Given the description of an element on the screen output the (x, y) to click on. 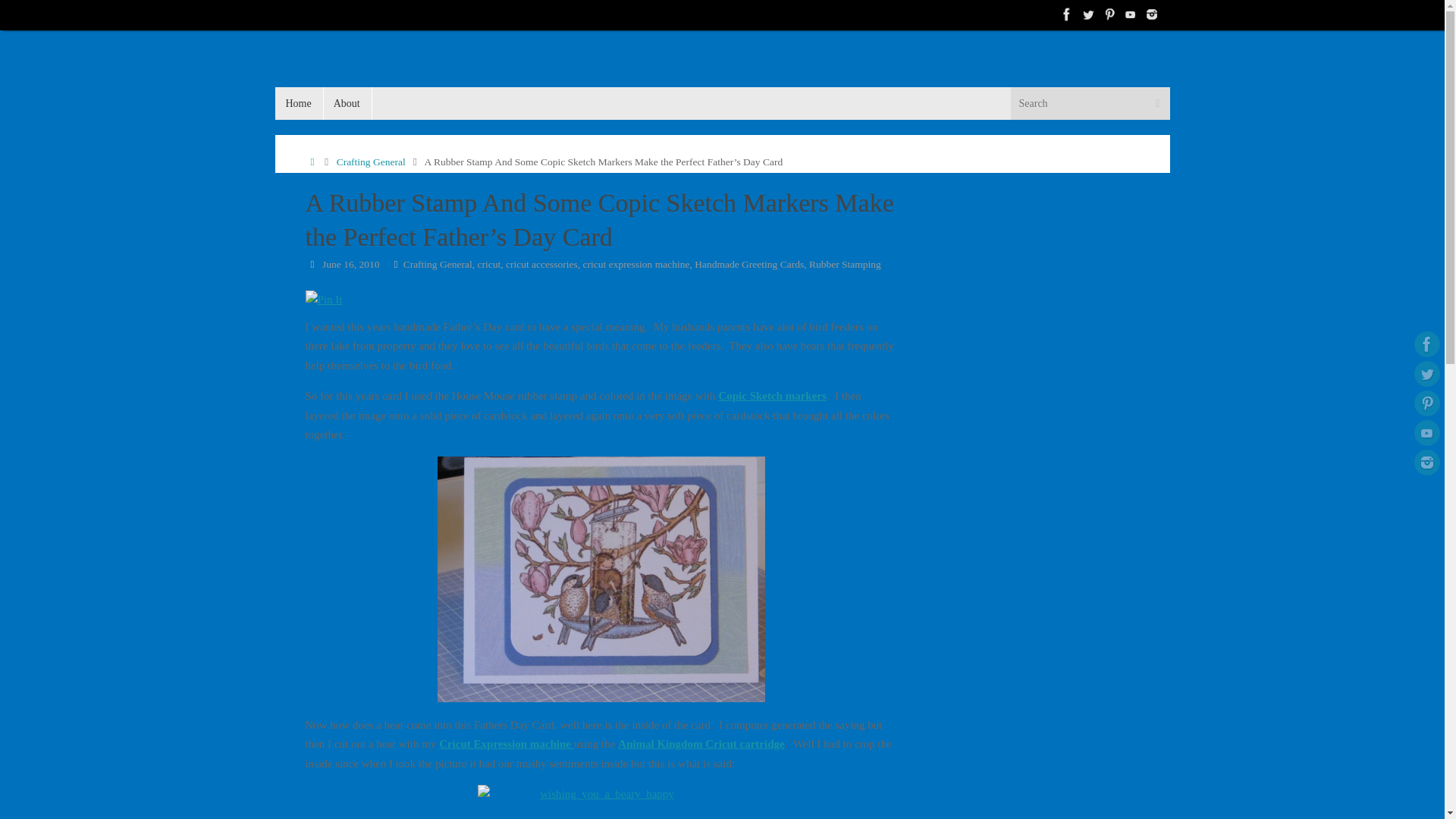
Handmade Greeting Cards (748, 264)
Facebook (1426, 344)
YouTube (1426, 432)
Instagram (1150, 14)
YouTube (1129, 14)
Pinterest (1426, 403)
Date (311, 264)
Twitter (1087, 14)
Rubber Stamping (844, 264)
About (347, 102)
Facebook (1066, 14)
Home (311, 161)
Cricut Expression machine (506, 743)
Twitter (1426, 373)
Pinterest (1108, 14)
